Given the description of an element on the screen output the (x, y) to click on. 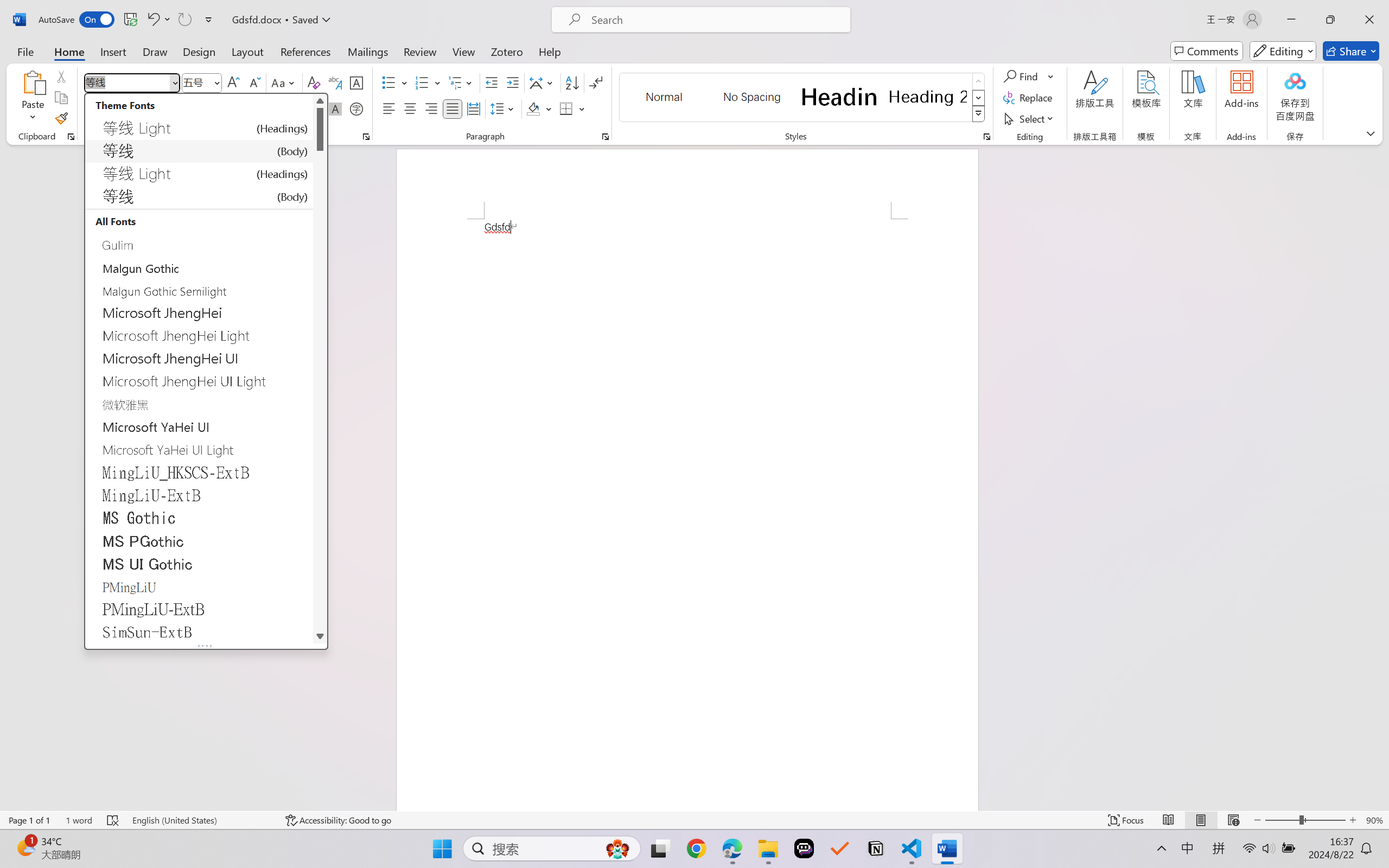
Change Case (284, 82)
Styles... (986, 136)
Microsoft JhengHei UI (198, 358)
Microsoft YaHei UI Light (198, 449)
AutomationID: QuickStylesGallery (802, 97)
Cut (60, 75)
Replace... (1029, 97)
